Given the description of an element on the screen output the (x, y) to click on. 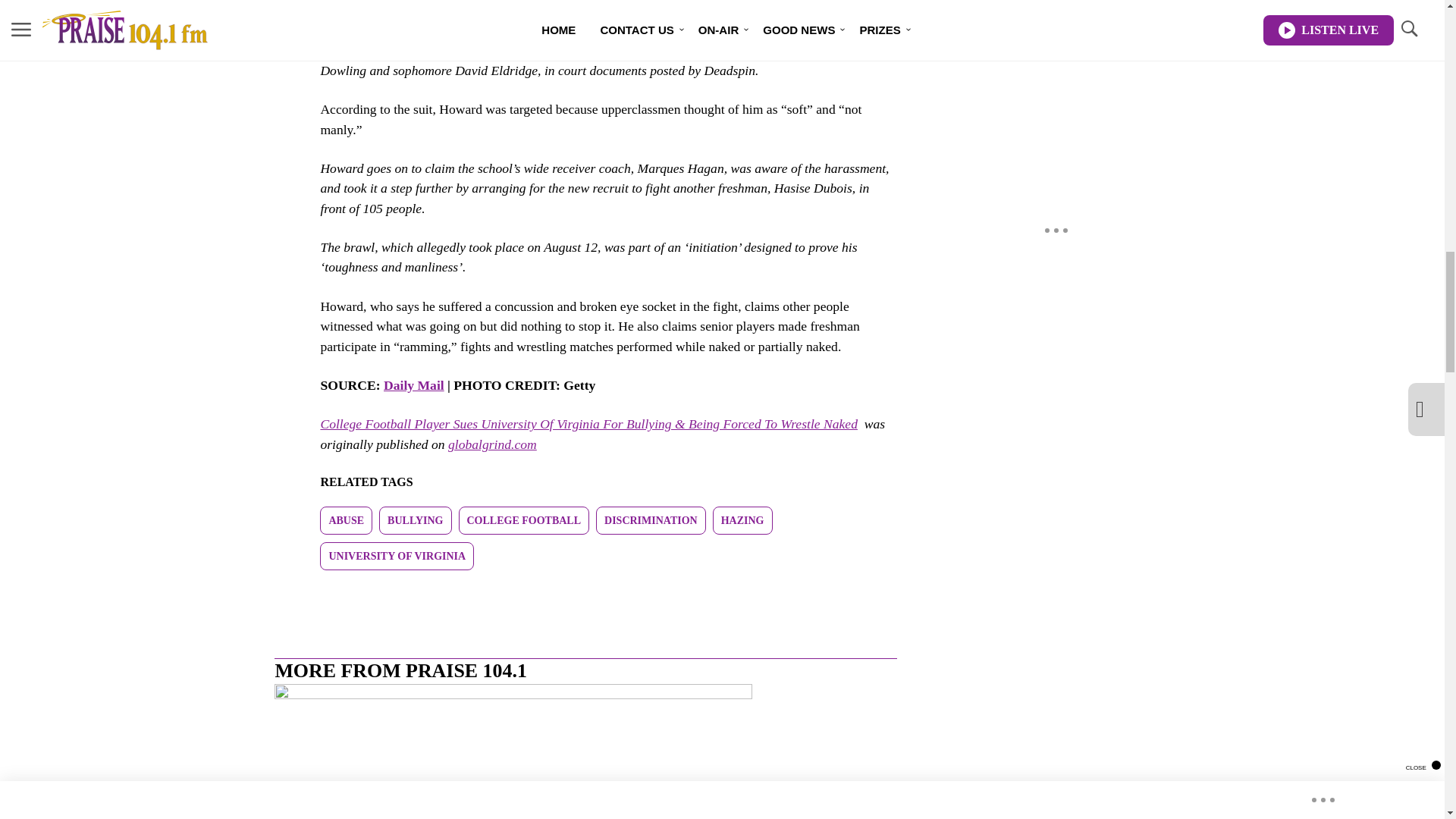
Daily Mail (414, 385)
BULLYING (414, 520)
globalgrind.com (492, 444)
ABUSE (346, 520)
